Given the description of an element on the screen output the (x, y) to click on. 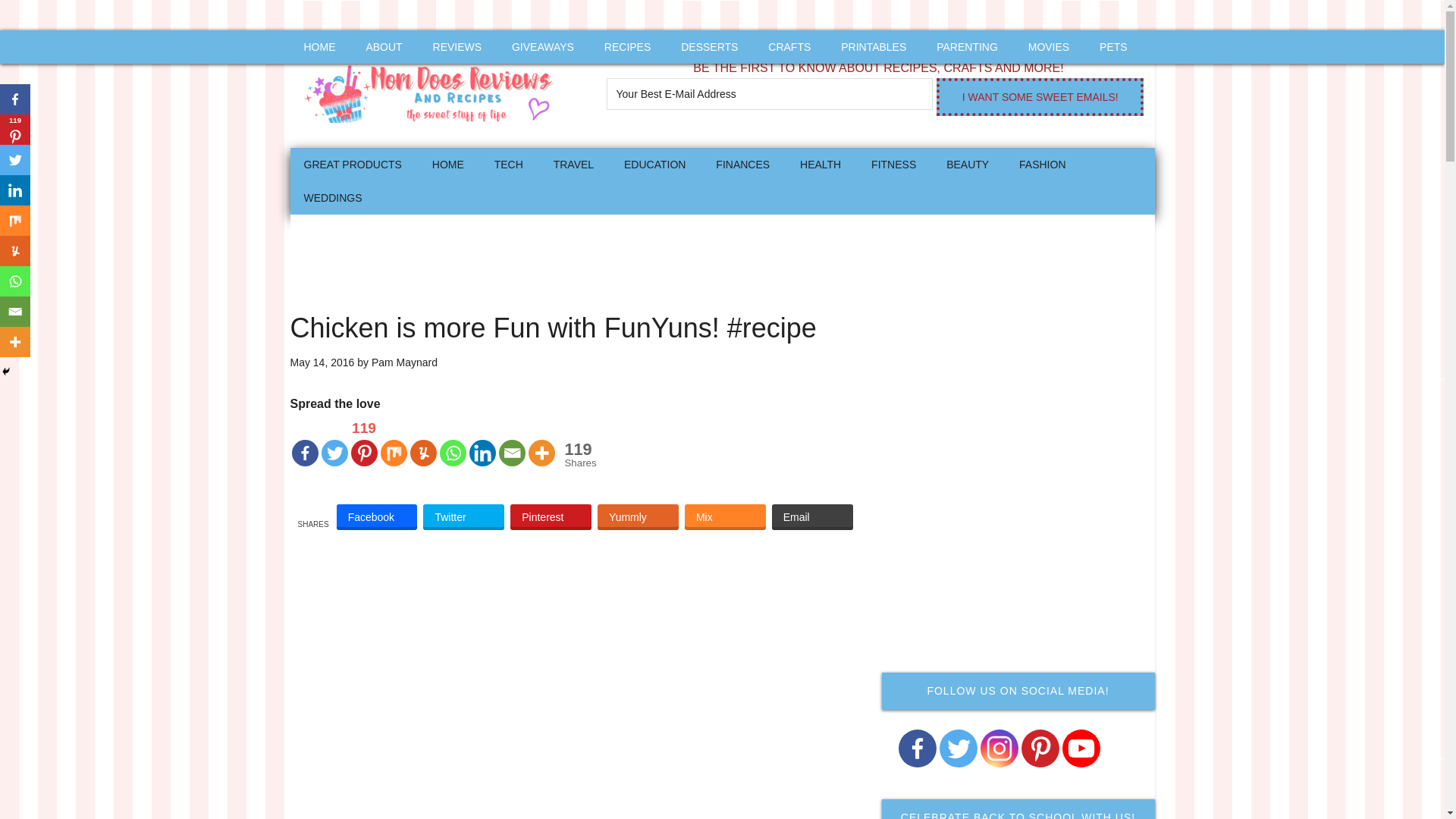
Home (448, 164)
PRINTABLES (873, 46)
GIVEAWAYS (542, 46)
TRAVEL (573, 164)
REVIEWS (457, 46)
FASHION (1042, 164)
review (457, 46)
FINANCES (742, 164)
Share on Facebook (376, 516)
DESSERTS (708, 46)
